Given the description of an element on the screen output the (x, y) to click on. 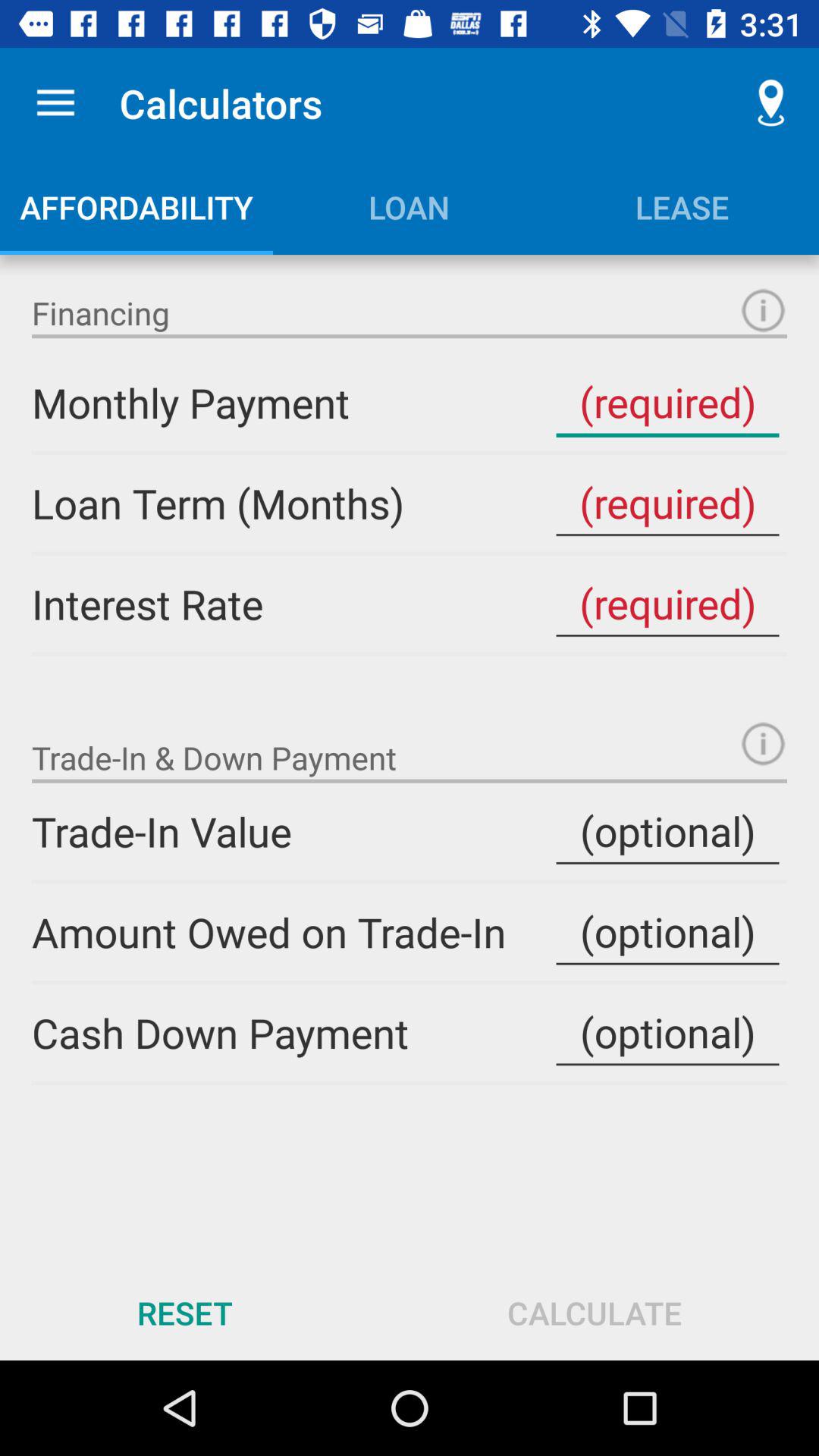
get more information (763, 310)
